Given the description of an element on the screen output the (x, y) to click on. 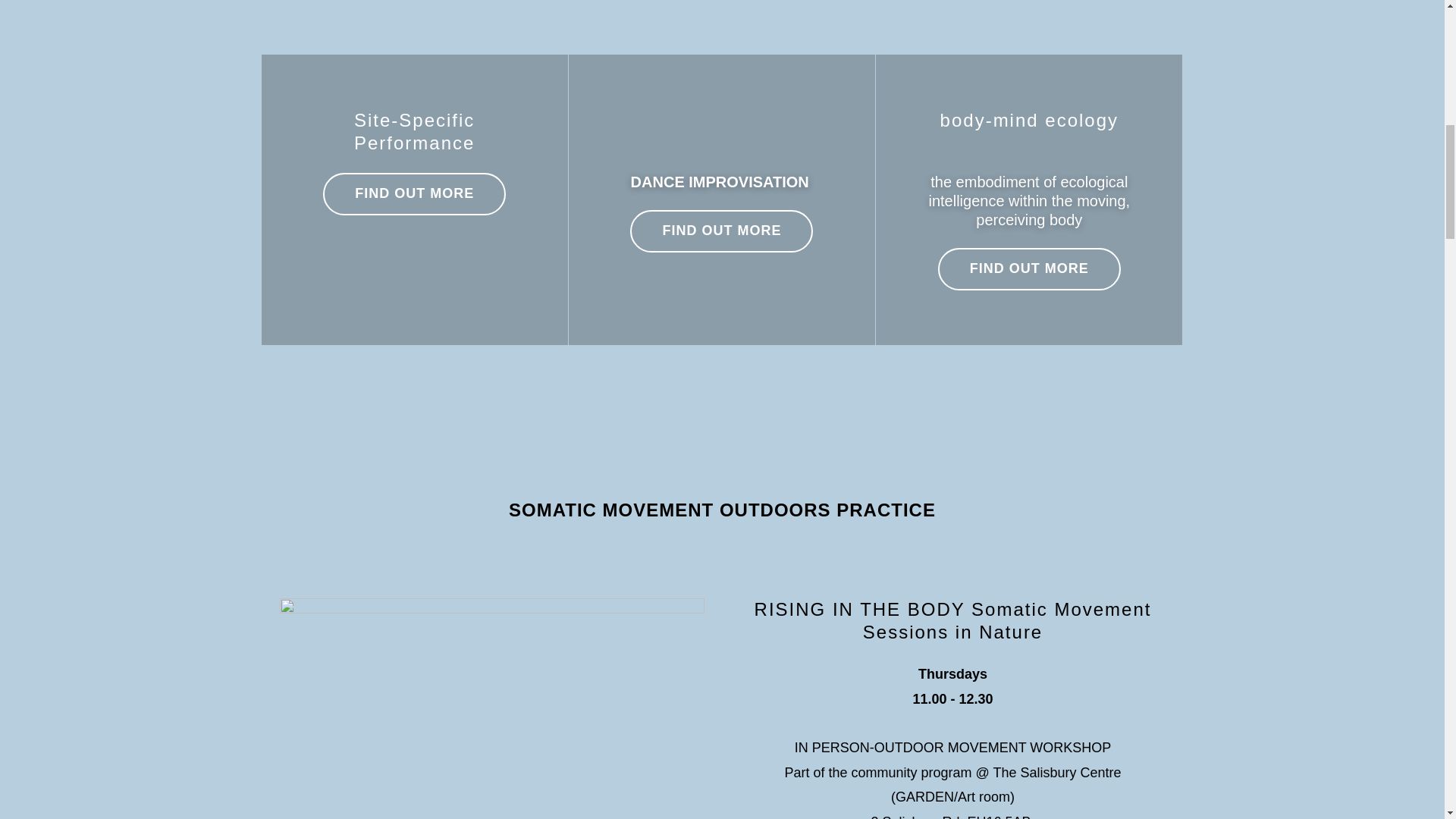
FIND OUT MORE (1029, 269)
FIND OUT MORE (721, 230)
FIND OUT MORE (414, 193)
